Given the description of an element on the screen output the (x, y) to click on. 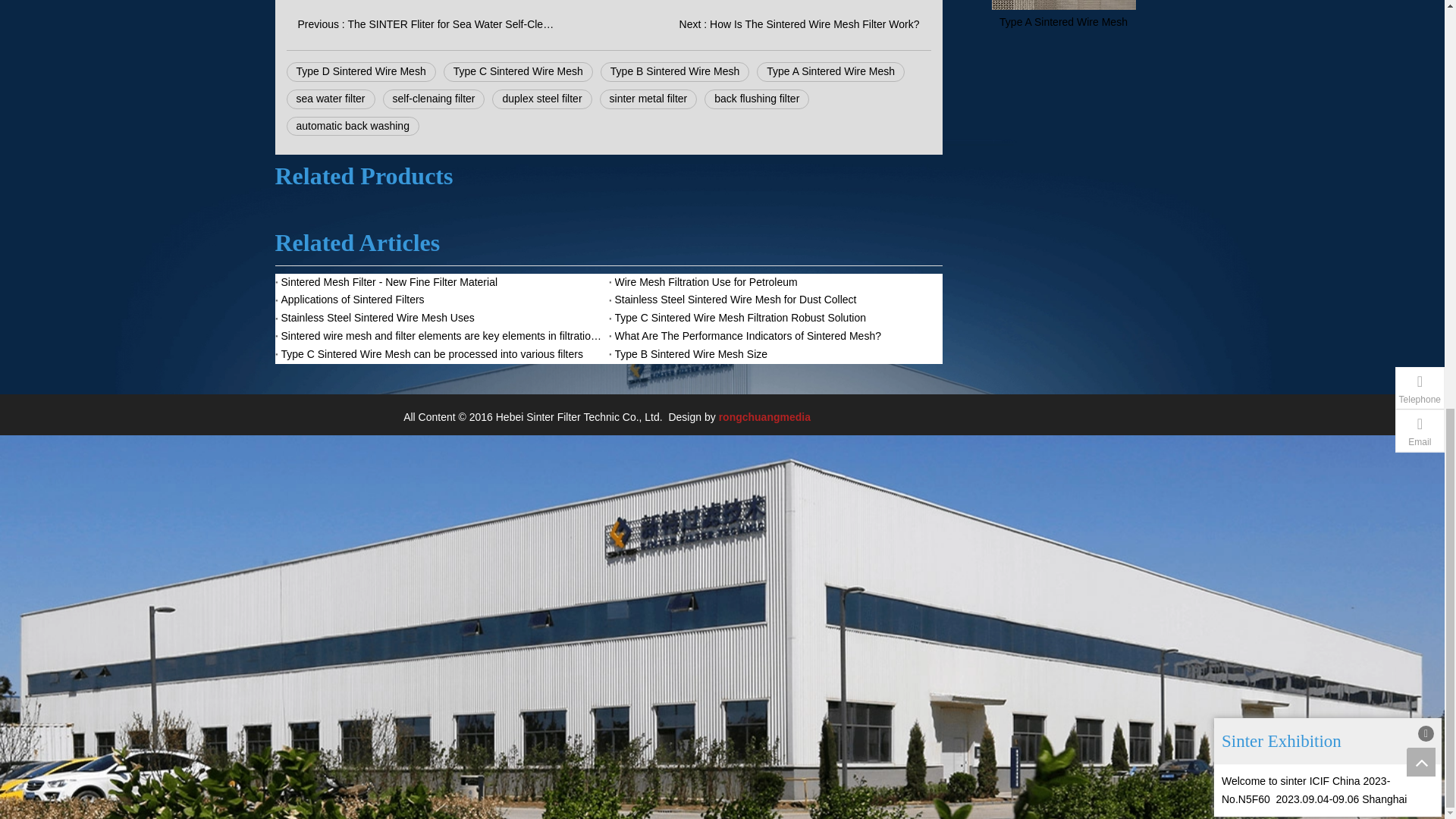
self-clenaing filter (433, 98)
Type C Sintered Wire Mesh (518, 71)
back flushing filter (756, 98)
Type D Sintered Wire Mesh (360, 71)
duplex steel filter (541, 98)
Type B Sintered Wire Mesh (674, 71)
sinter metal filter (648, 98)
Type C Sintered Wire Mesh (518, 71)
Type B Sintered Wire Mesh (674, 71)
